Given the description of an element on the screen output the (x, y) to click on. 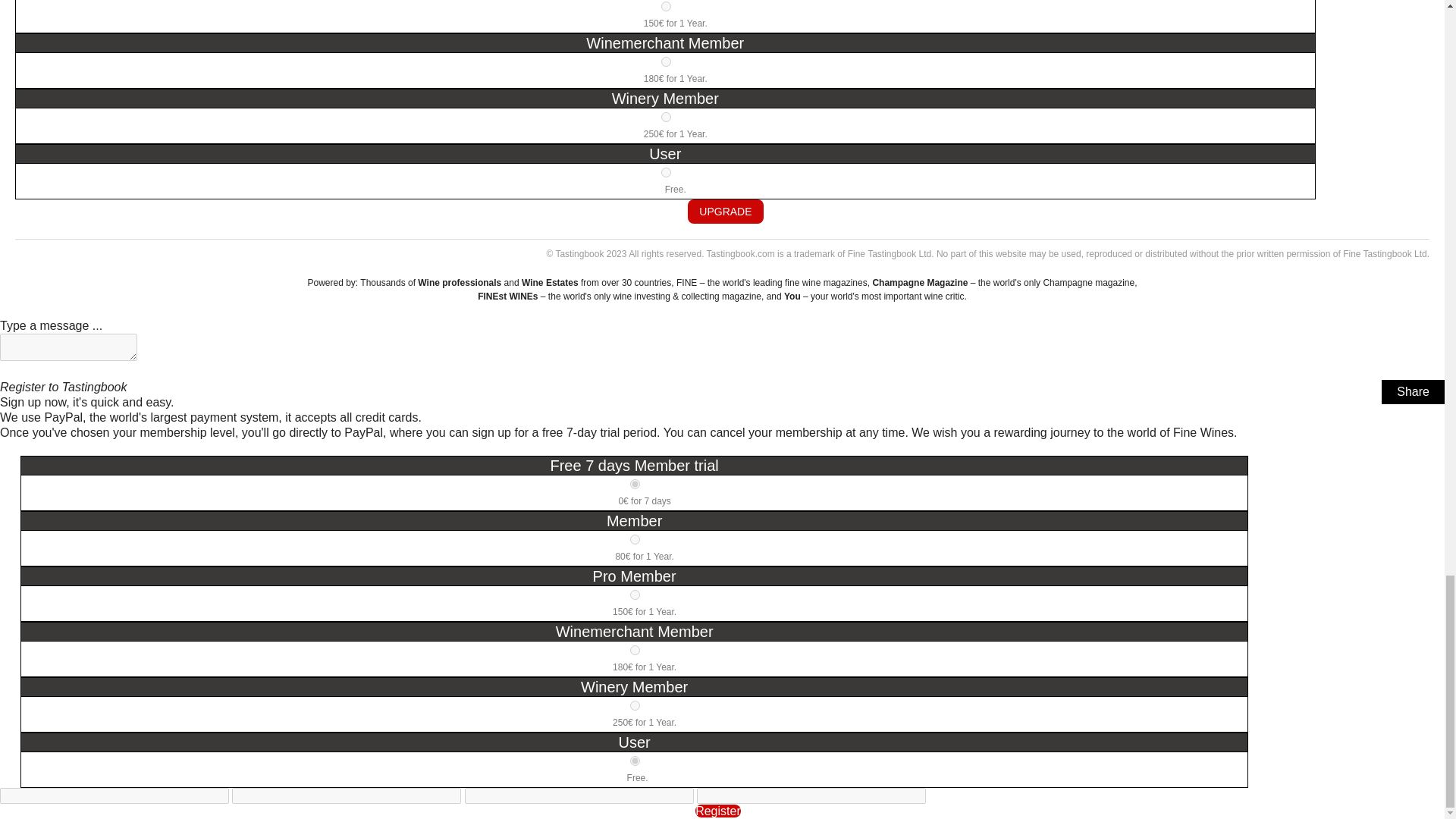
9 (666, 117)
10 (635, 760)
5 (635, 594)
9 (635, 705)
7 (635, 650)
0 (635, 483)
5 (666, 6)
3 (635, 539)
10 (666, 172)
7 (666, 61)
